Given the description of an element on the screen output the (x, y) to click on. 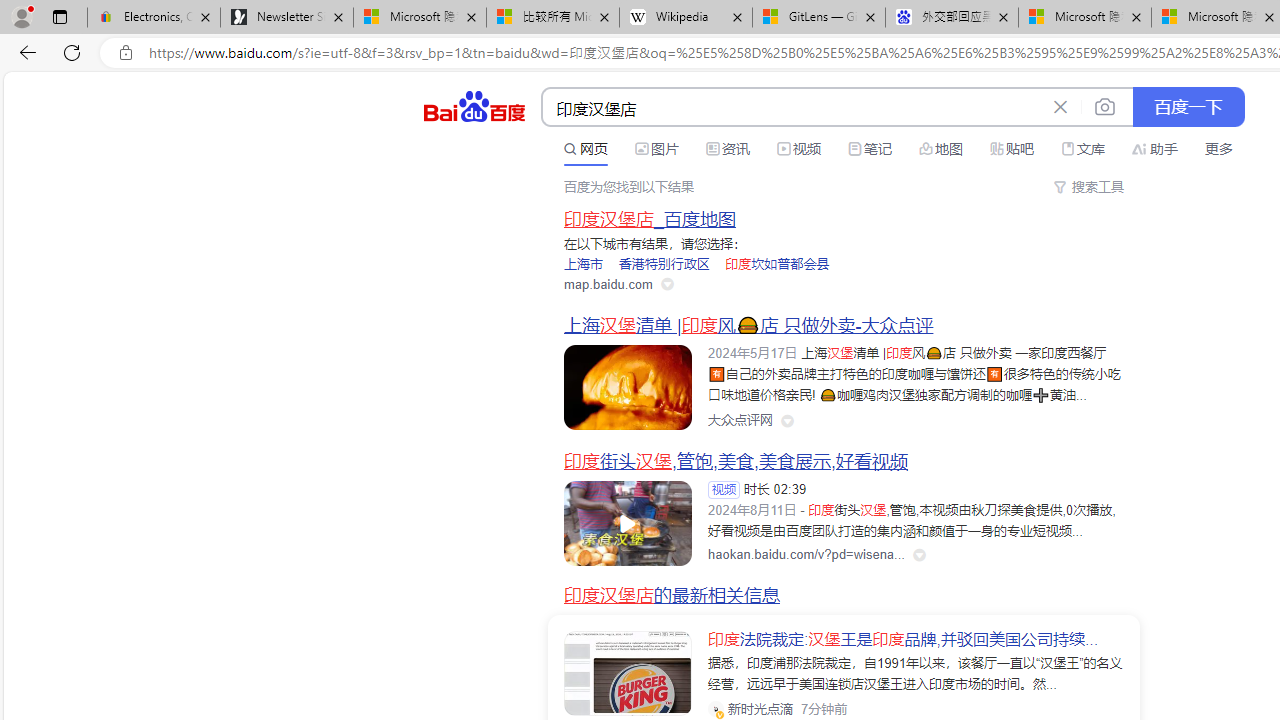
Class: c-img c-img-radius-large (628, 673)
Wikipedia (685, 17)
AutomationID: kw (793, 107)
